Given the description of an element on the screen output the (x, y) to click on. 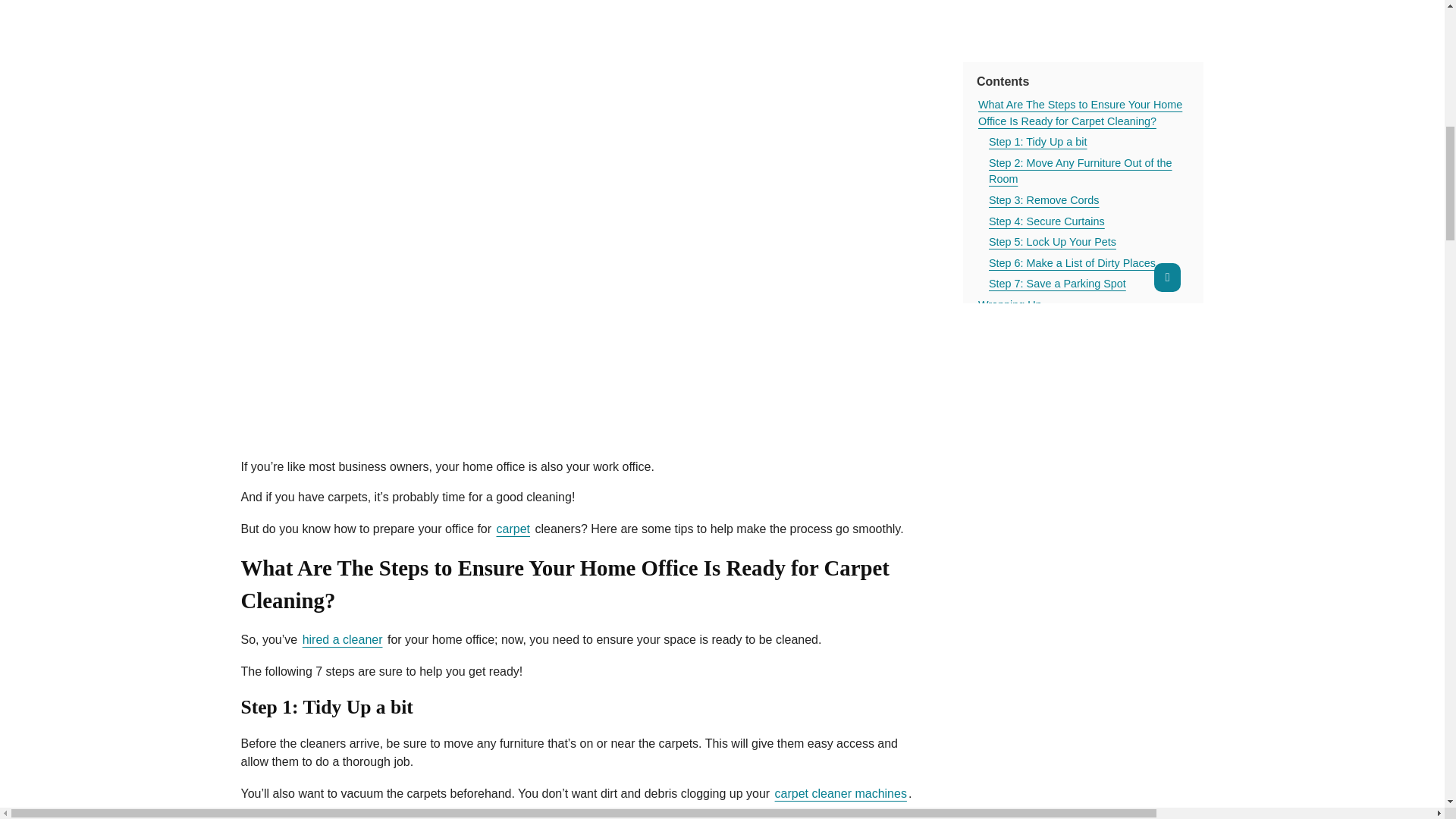
carpet cleaner machines (840, 793)
hired a cleaner (342, 639)
carpet (513, 528)
